Given the description of an element on the screen output the (x, y) to click on. 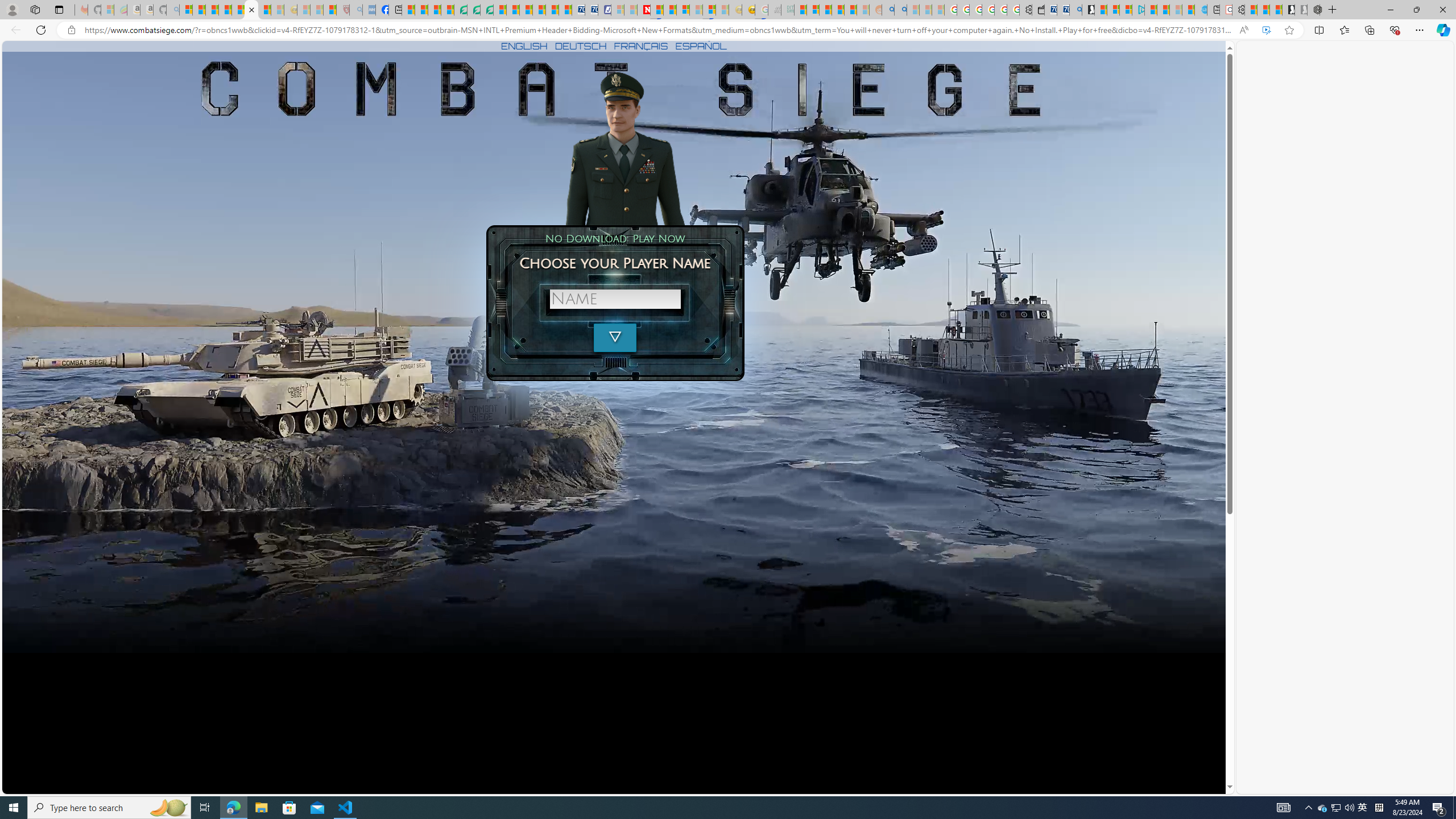
Student Loan Update: Forgiveness Program Ends This Month (850, 9)
Home | Sky Blue Bikes - Sky Blue Bikes (1200, 9)
Cheap Hotels - Save70.com (590, 9)
Wallet (1037, 9)
Bing Real Estate - Home sales and rental listings (1075, 9)
